Given the description of an element on the screen output the (x, y) to click on. 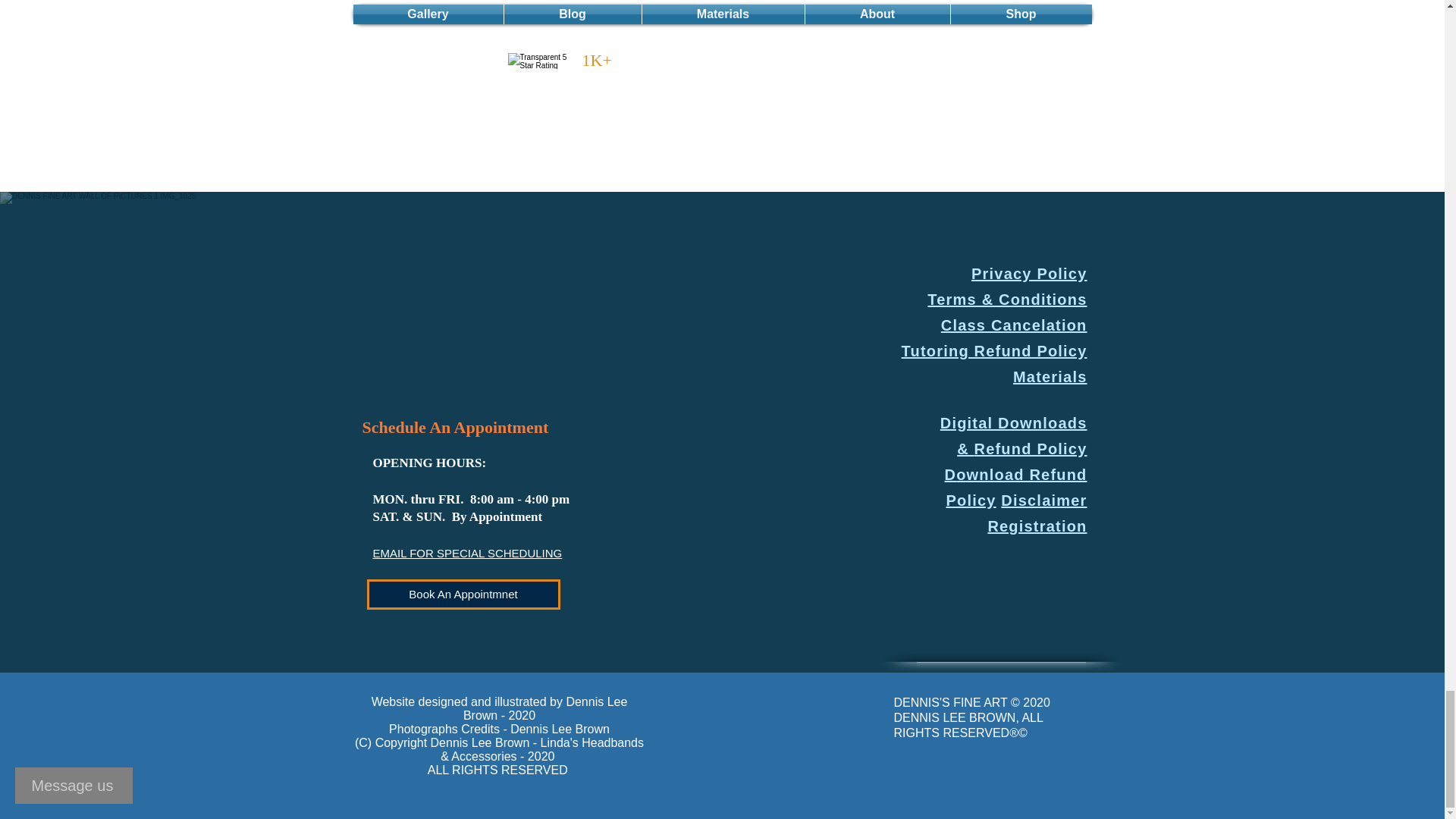
Digital Downloads (1013, 422)
Book An Appointmnet (463, 594)
Refund Policy (1030, 448)
Class Cancelation (1013, 324)
Tutoring Refund Policy (994, 351)
Disclaimer (1043, 500)
Materials (1050, 376)
 Download Refund Policy  (1013, 500)
Registration (1036, 525)
Privacy Policy (1028, 273)
